Given the description of an element on the screen output the (x, y) to click on. 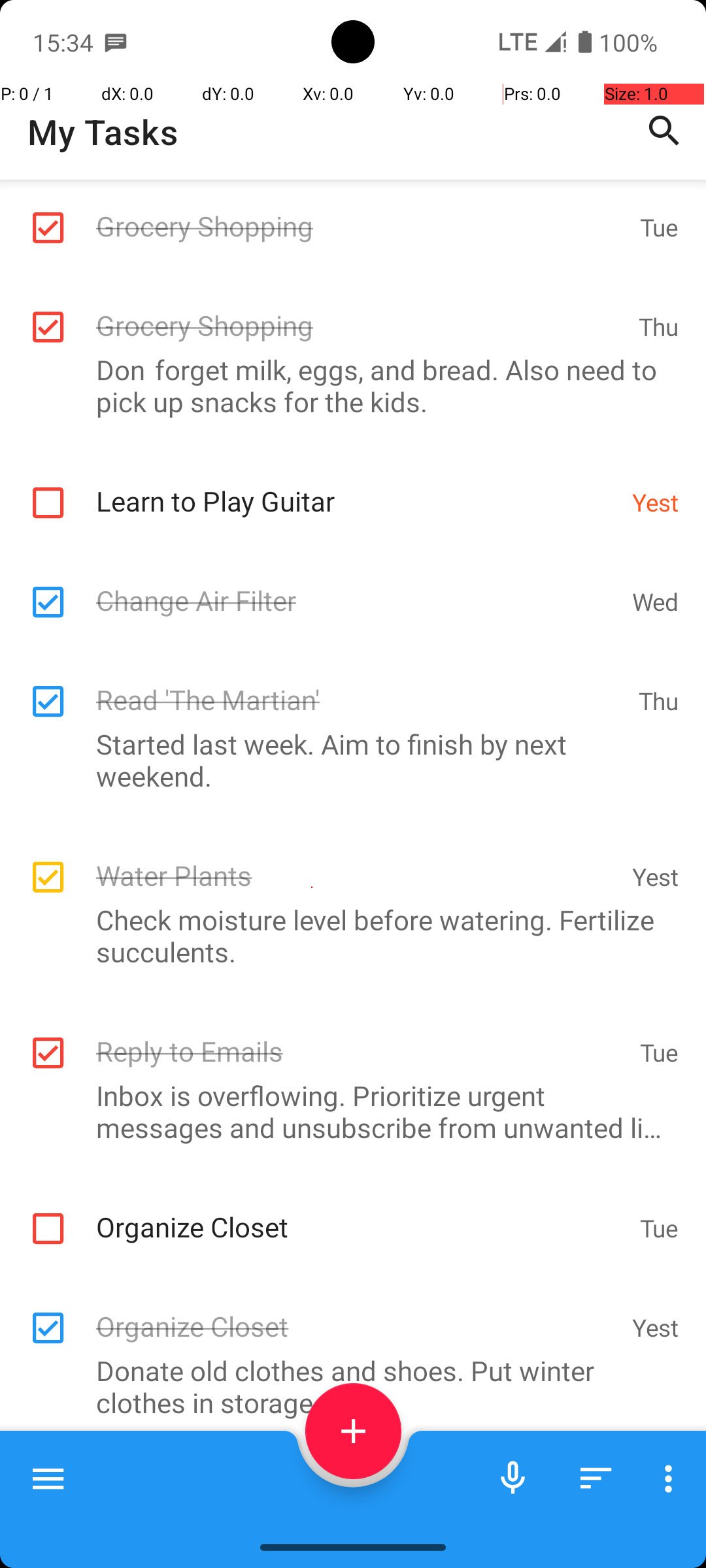
Don	 forget milk, eggs, and bread. Also need to pick up snacks for the kids. Element type: android.widget.TextView (346, 385)
Inbox is overflowing. Prioritize urgent messages and unsubscribe from unwanted lists. Element type: android.widget.TextView (346, 1110)
